Given the description of an element on the screen output the (x, y) to click on. 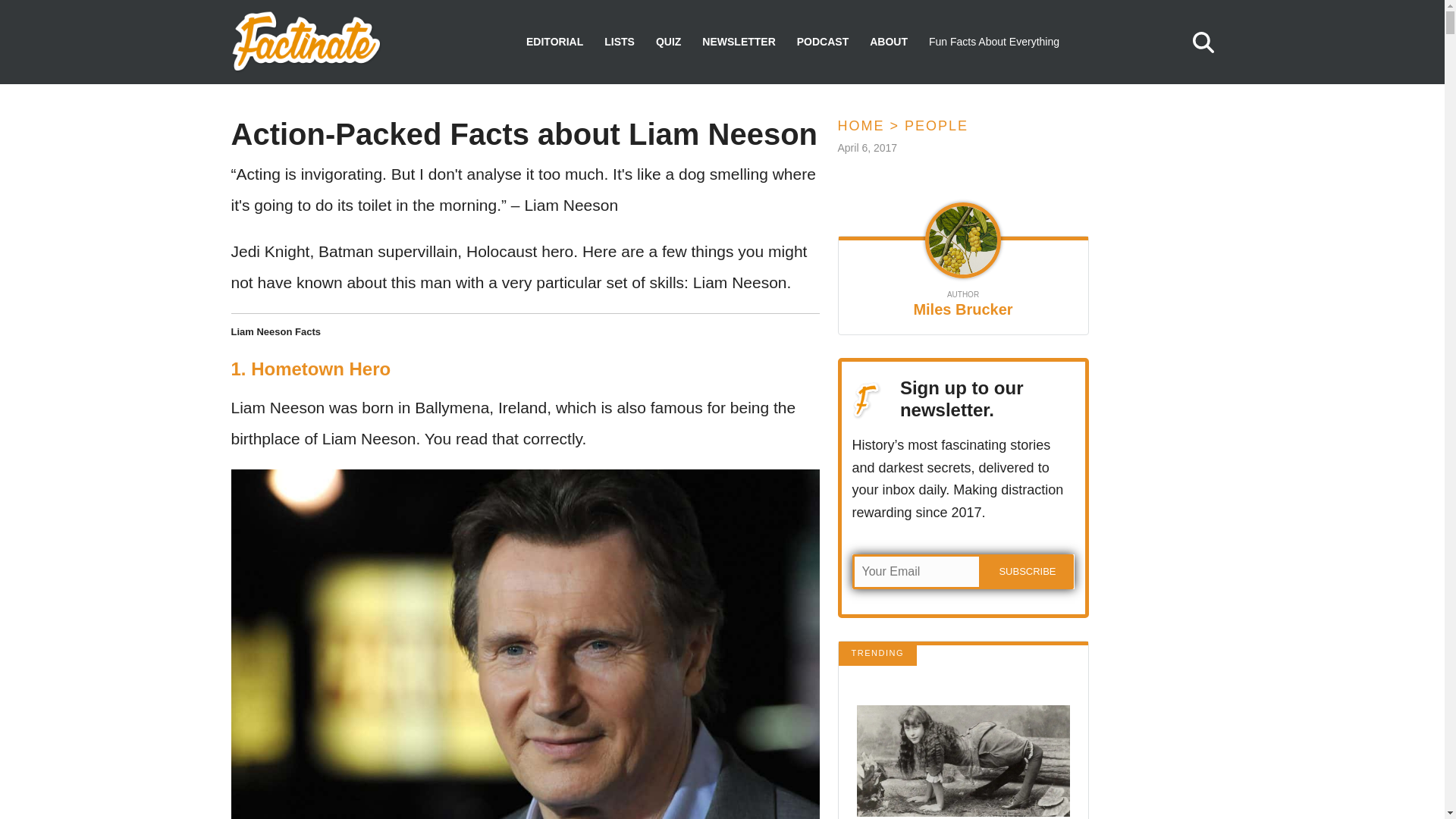
QUIZ (668, 41)
LISTS (619, 41)
NEWSLETTER (737, 41)
EDITORIAL (554, 41)
ABOUT (888, 41)
PODCAST (822, 41)
